Given the description of an element on the screen output the (x, y) to click on. 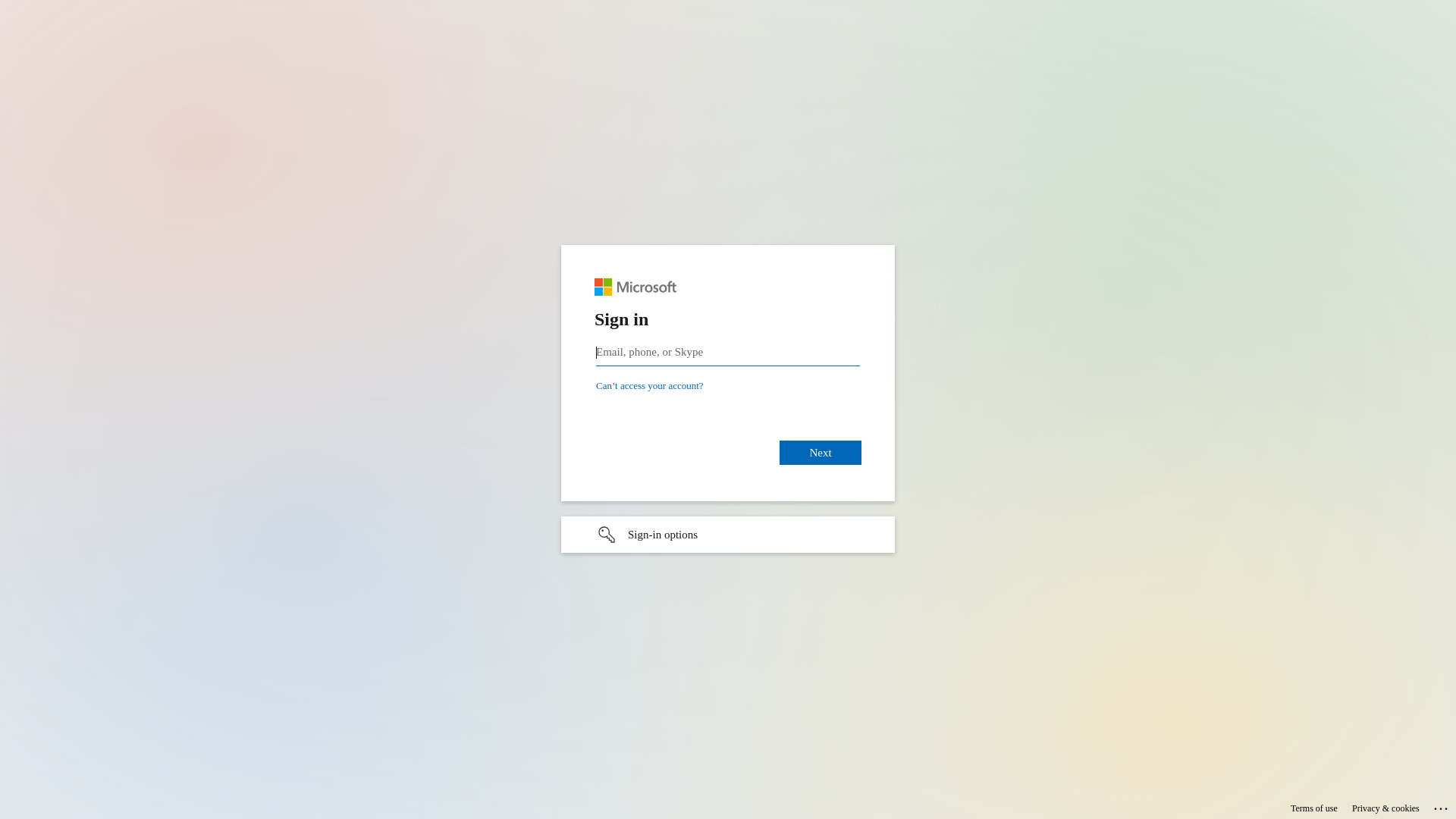
... Element type: text (1441, 805)
Next Element type: text (820, 452)
